Given the description of an element on the screen output the (x, y) to click on. 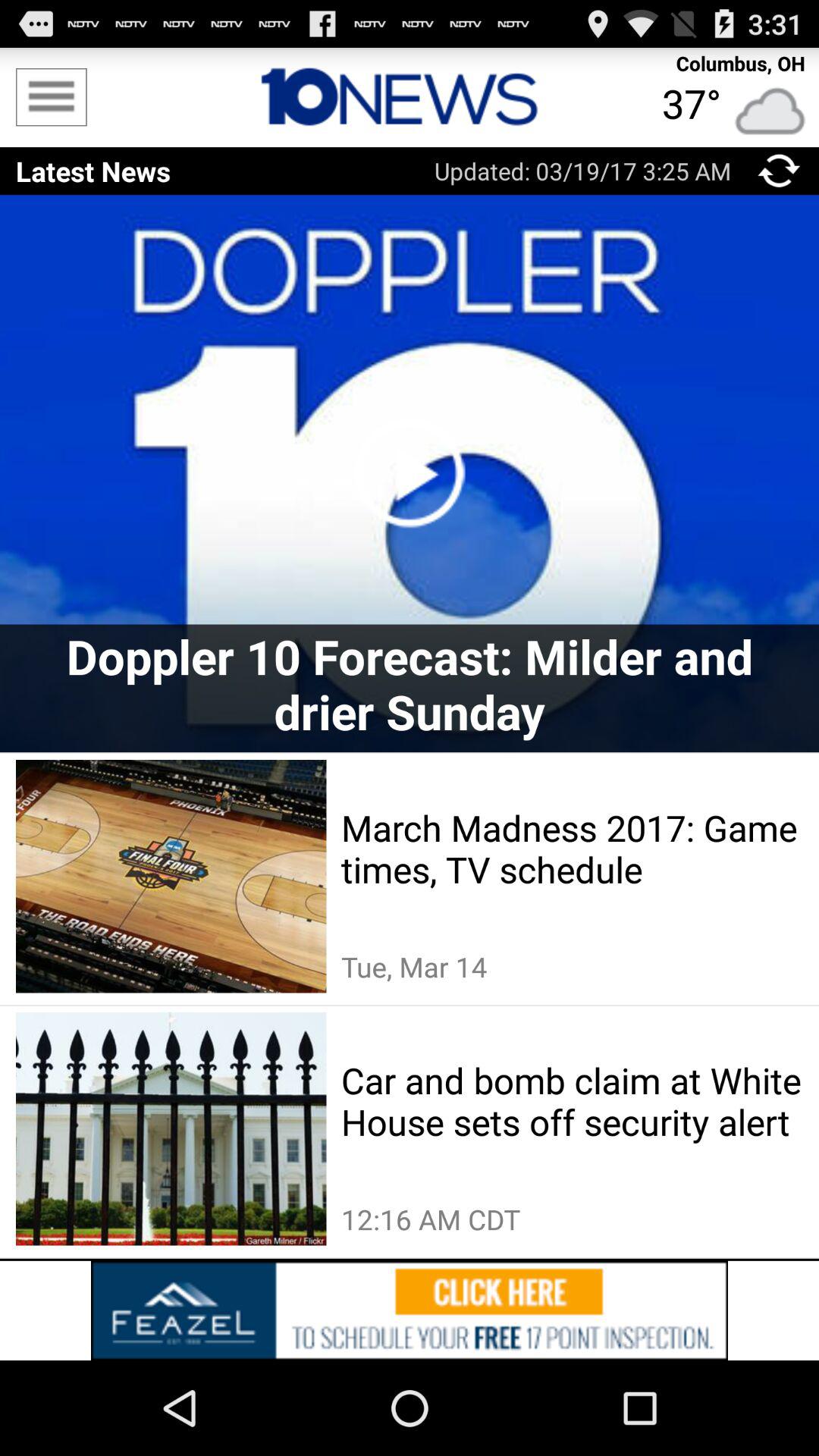
advatisment (409, 1310)
